Given the description of an element on the screen output the (x, y) to click on. 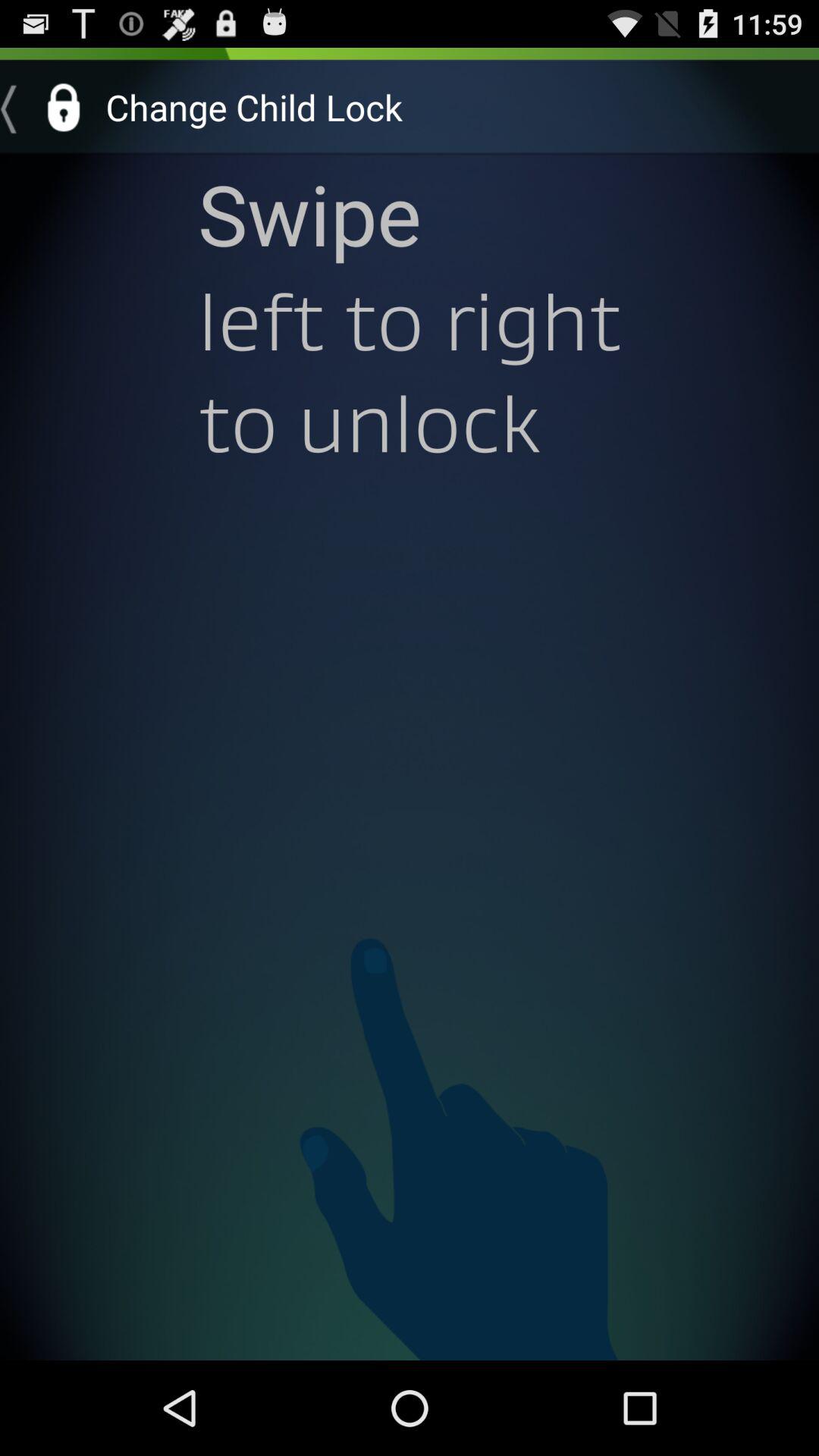
go back (47, 107)
